Given the description of an element on the screen output the (x, y) to click on. 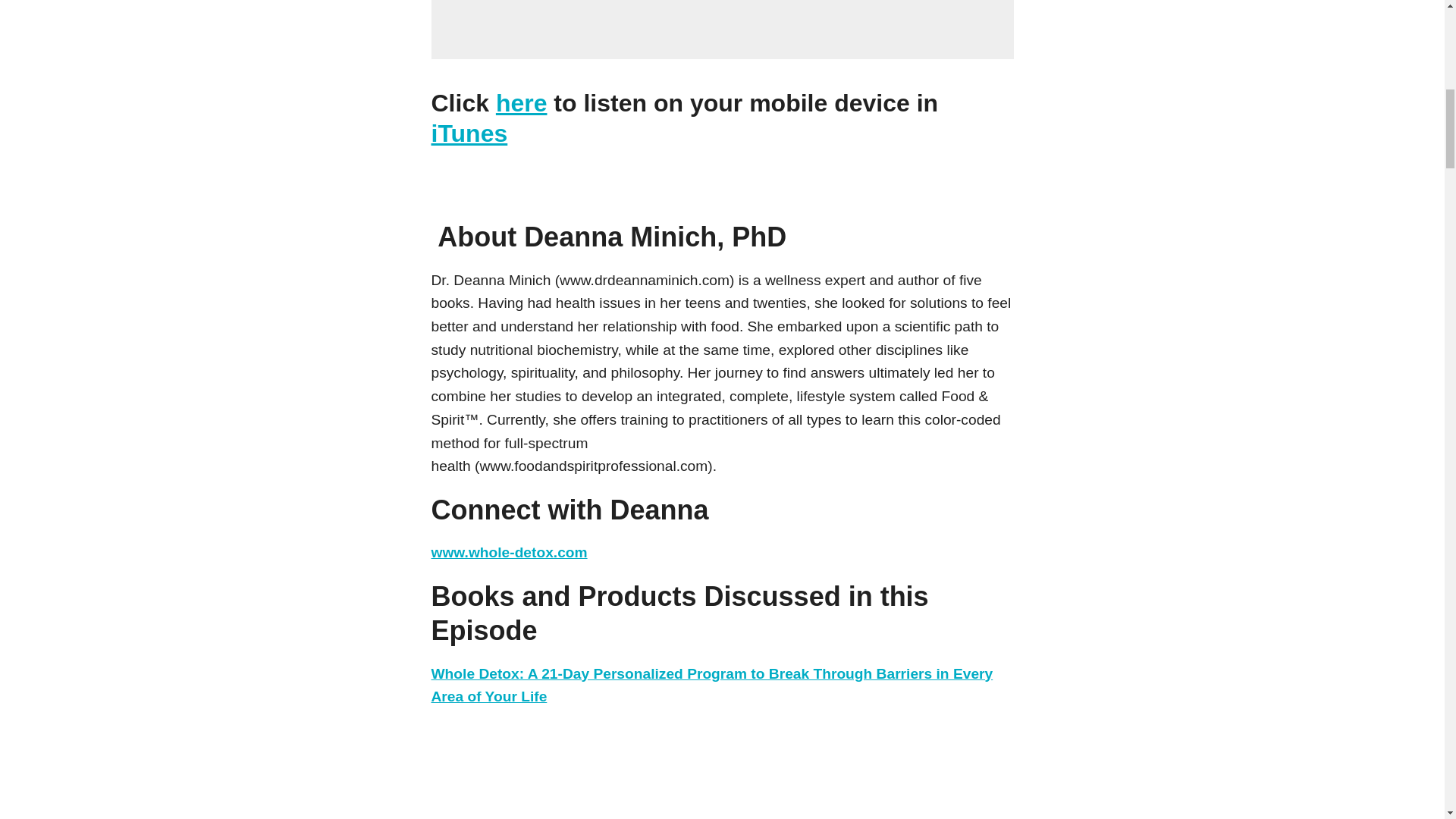
here (521, 103)
iTunes (468, 133)
www.whole-detox.com (508, 552)
